Given the description of an element on the screen output the (x, y) to click on. 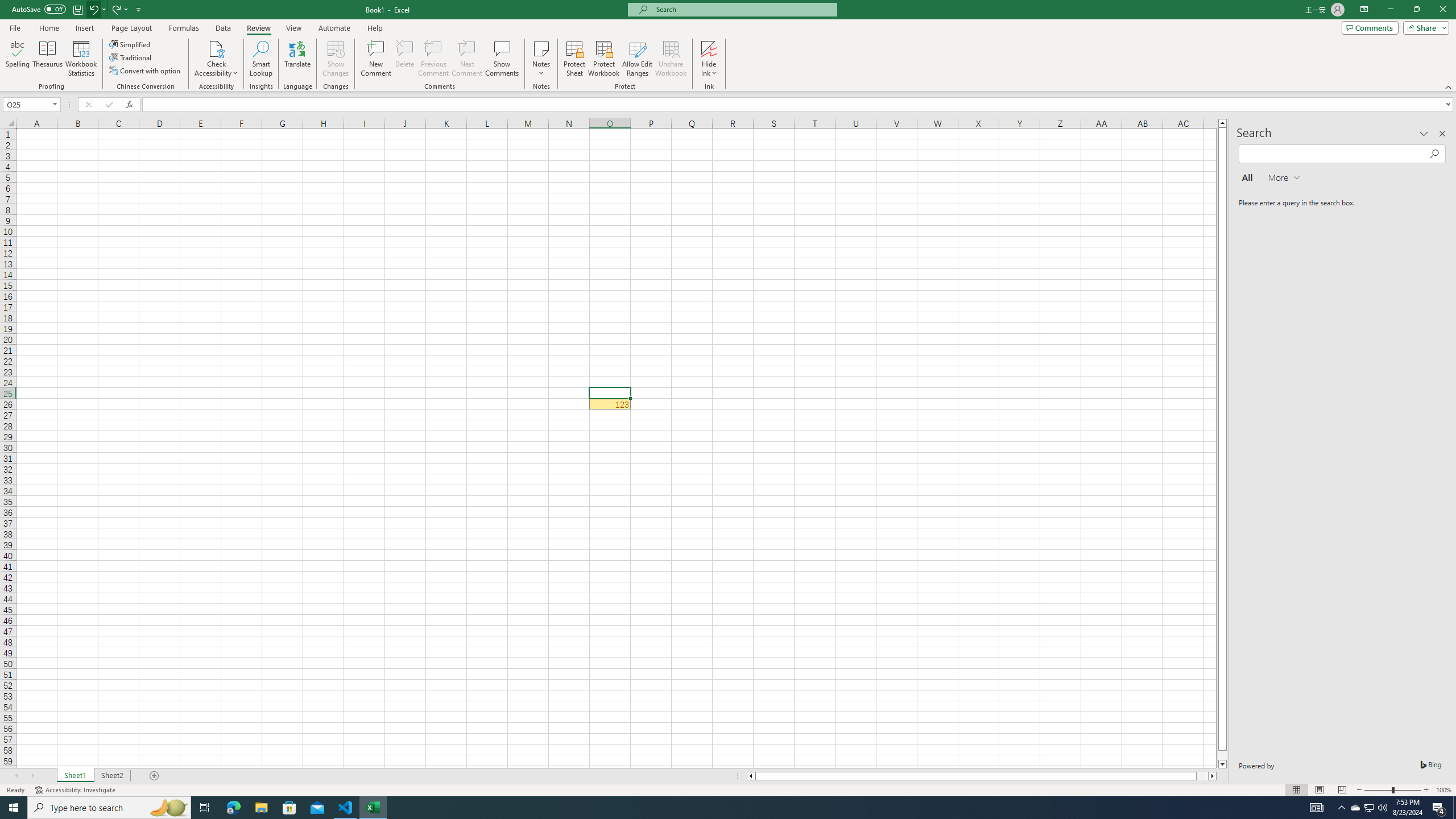
Workbook Statistics (81, 58)
Thesaurus... (47, 58)
Notes (541, 58)
